Given the description of an element on the screen output the (x, y) to click on. 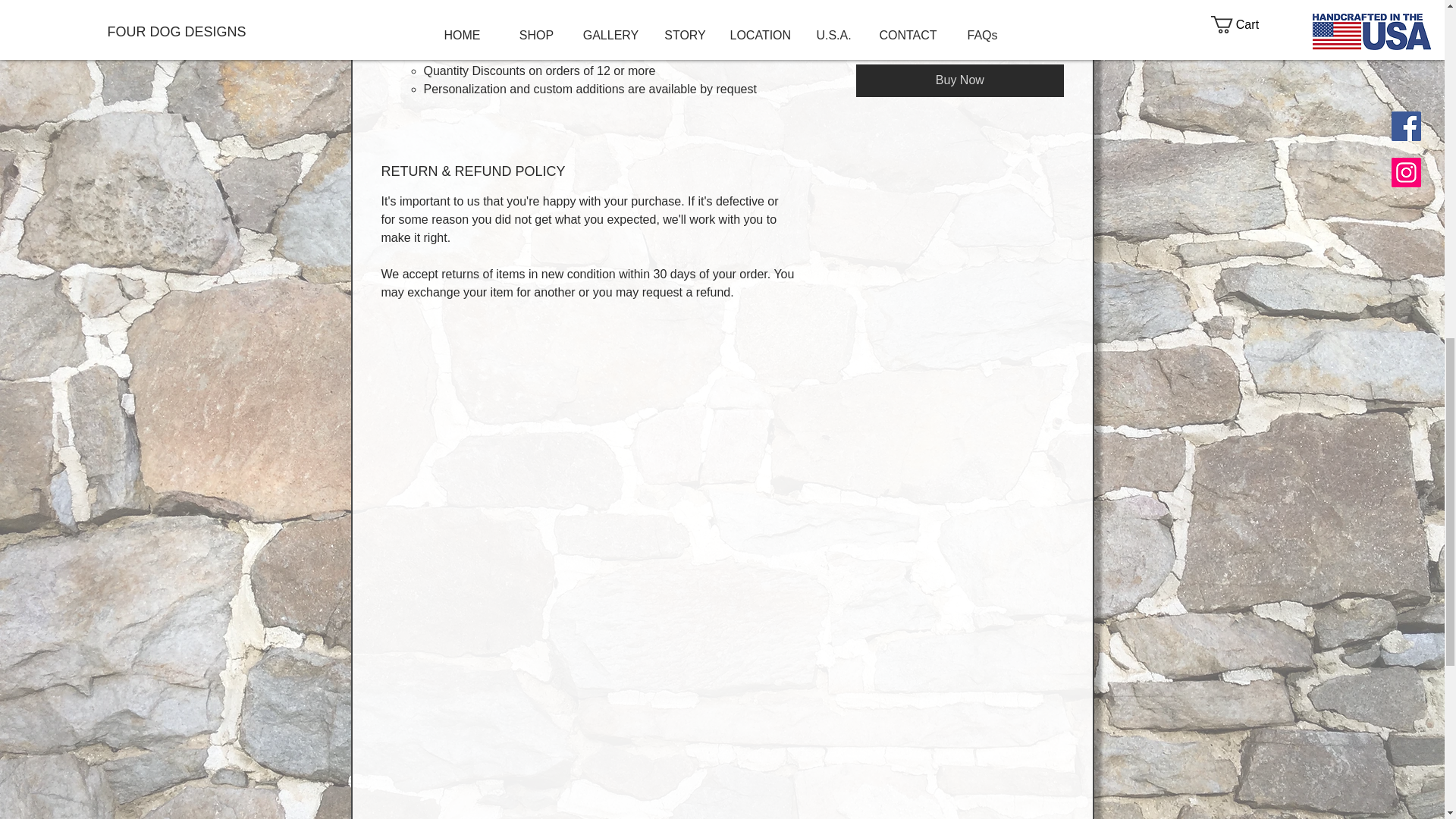
Buy Now (959, 80)
Add to Cart (959, 40)
1 (885, 0)
